Given the description of an element on the screen output the (x, y) to click on. 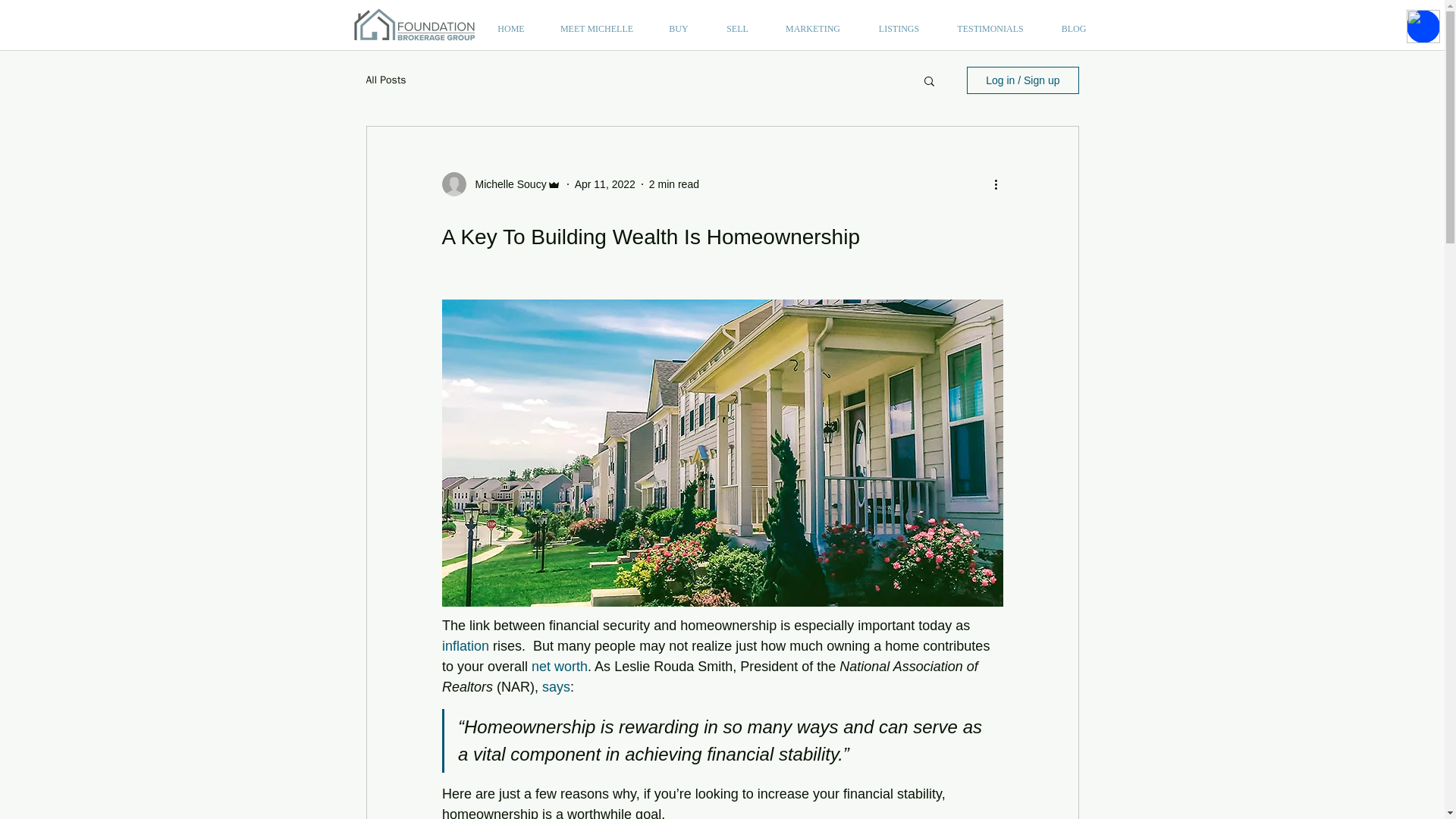
Apr 11, 2022 (604, 183)
HOME (510, 29)
Michelle Soucy (505, 183)
net worth (559, 666)
Accessibility Menu (1422, 26)
says (555, 686)
inflation (464, 645)
BLOG (1074, 29)
2 min read (673, 183)
SELL (737, 29)
